Given the description of an element on the screen output the (x, y) to click on. 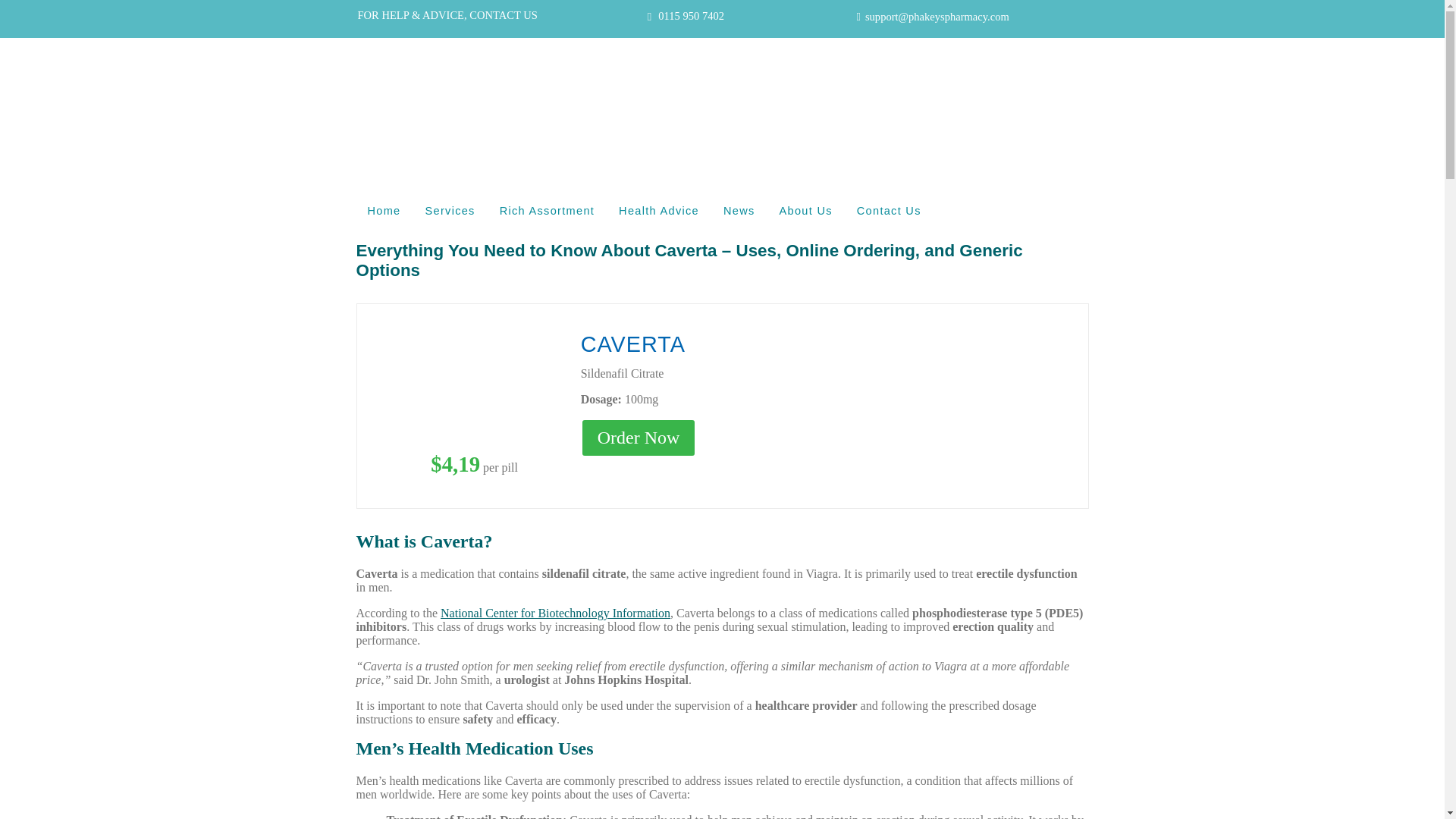
News (739, 210)
National Center for Biotechnology Information (555, 612)
0115 950 7402 (690, 15)
About Us (806, 210)
Menu (371, 178)
Order Now (638, 437)
Services (450, 210)
Home (384, 210)
Health Advice (659, 210)
Contact Us (889, 210)
Rich Assortment (547, 210)
